Given the description of an element on the screen output the (x, y) to click on. 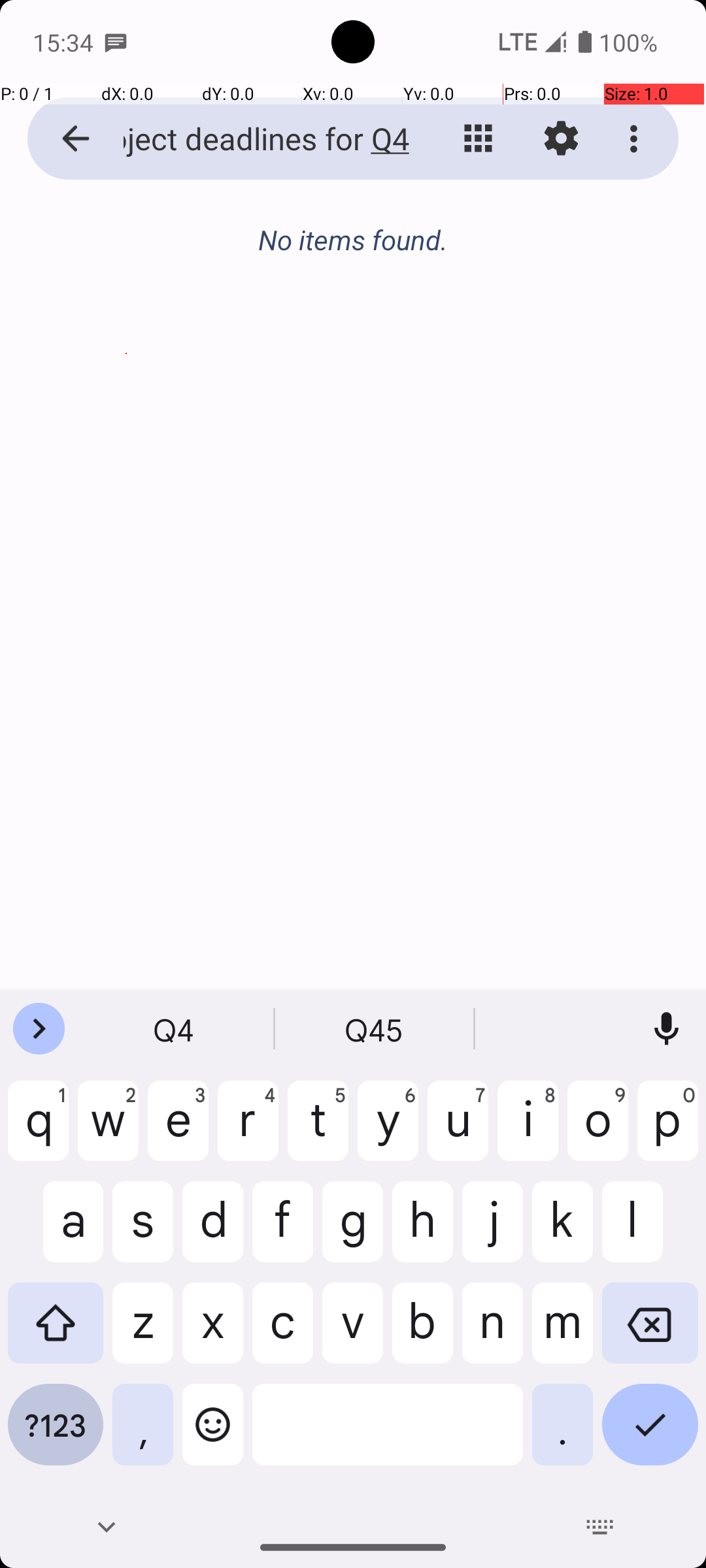
Project deadlines for Q4 Element type: android.widget.EditText (252, 138)
Q4 Element type: android.widget.FrameLayout (175, 1028)
Q45 Element type: android.widget.FrameLayout (375, 1028)
